Given the description of an element on the screen output the (x, y) to click on. 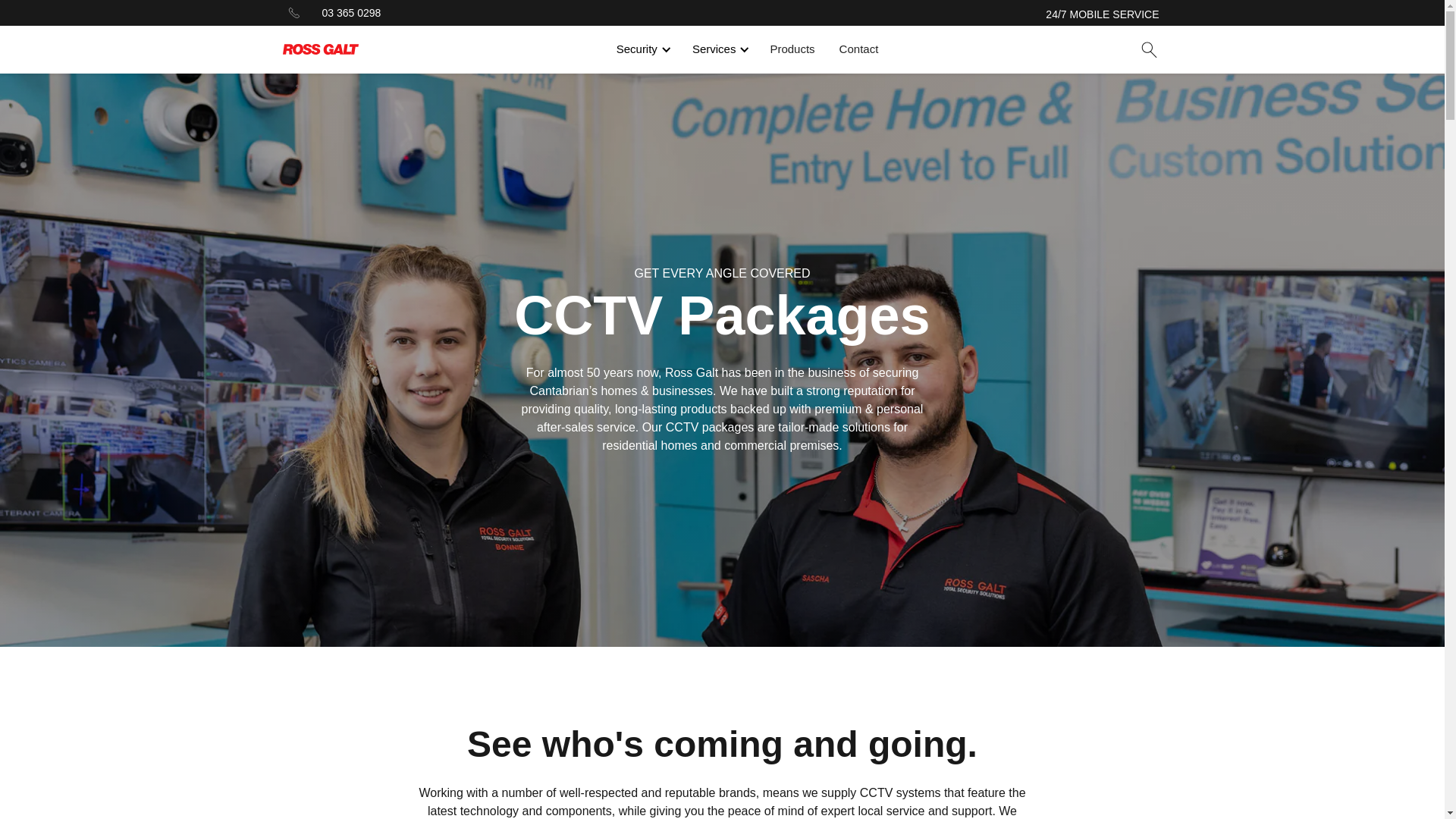
Products (792, 49)
03 365 0298 (350, 12)
Contact (859, 49)
